Given the description of an element on the screen output the (x, y) to click on. 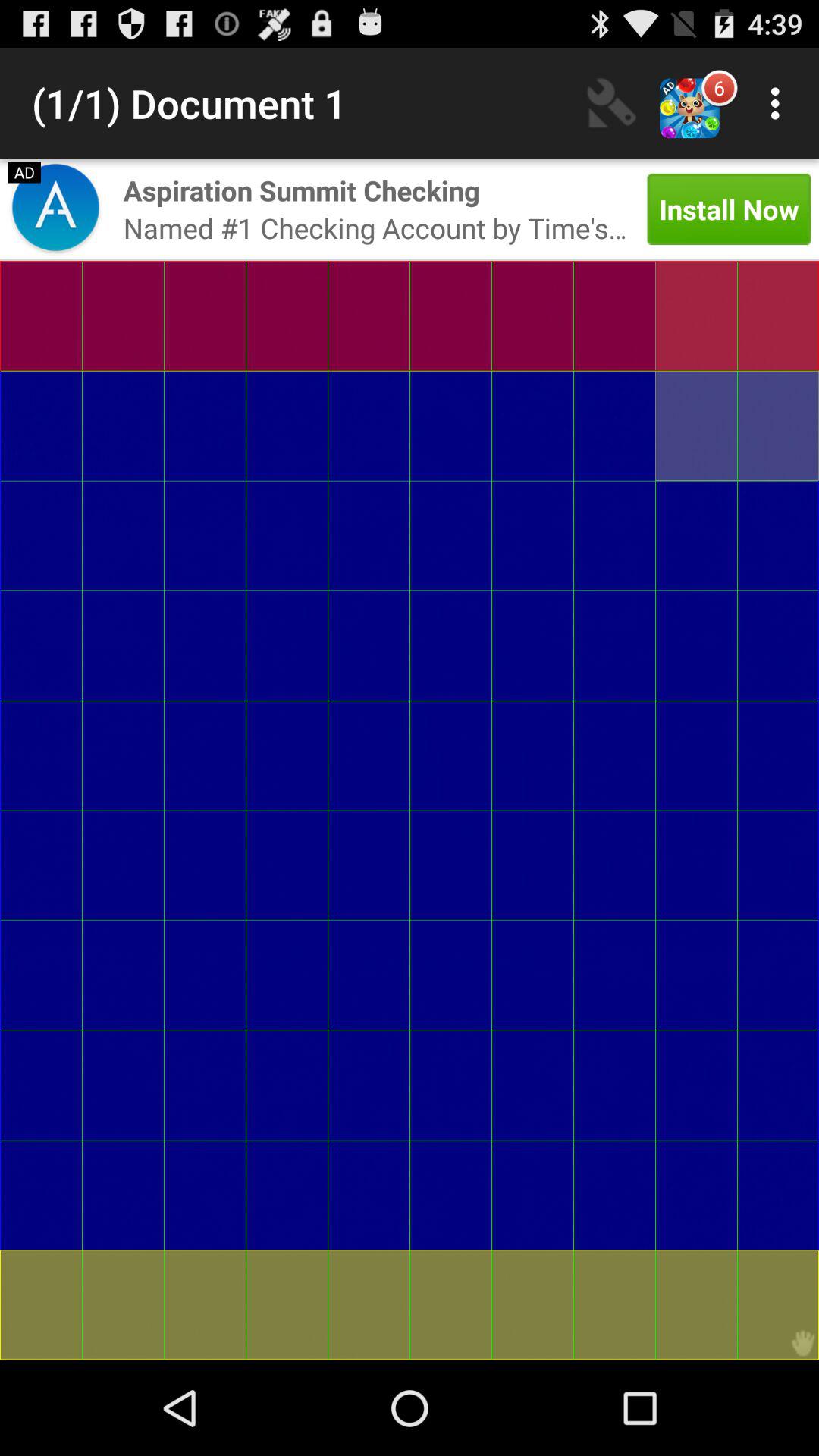
open the icon to the left of install now app (301, 190)
